Given the description of an element on the screen output the (x, y) to click on. 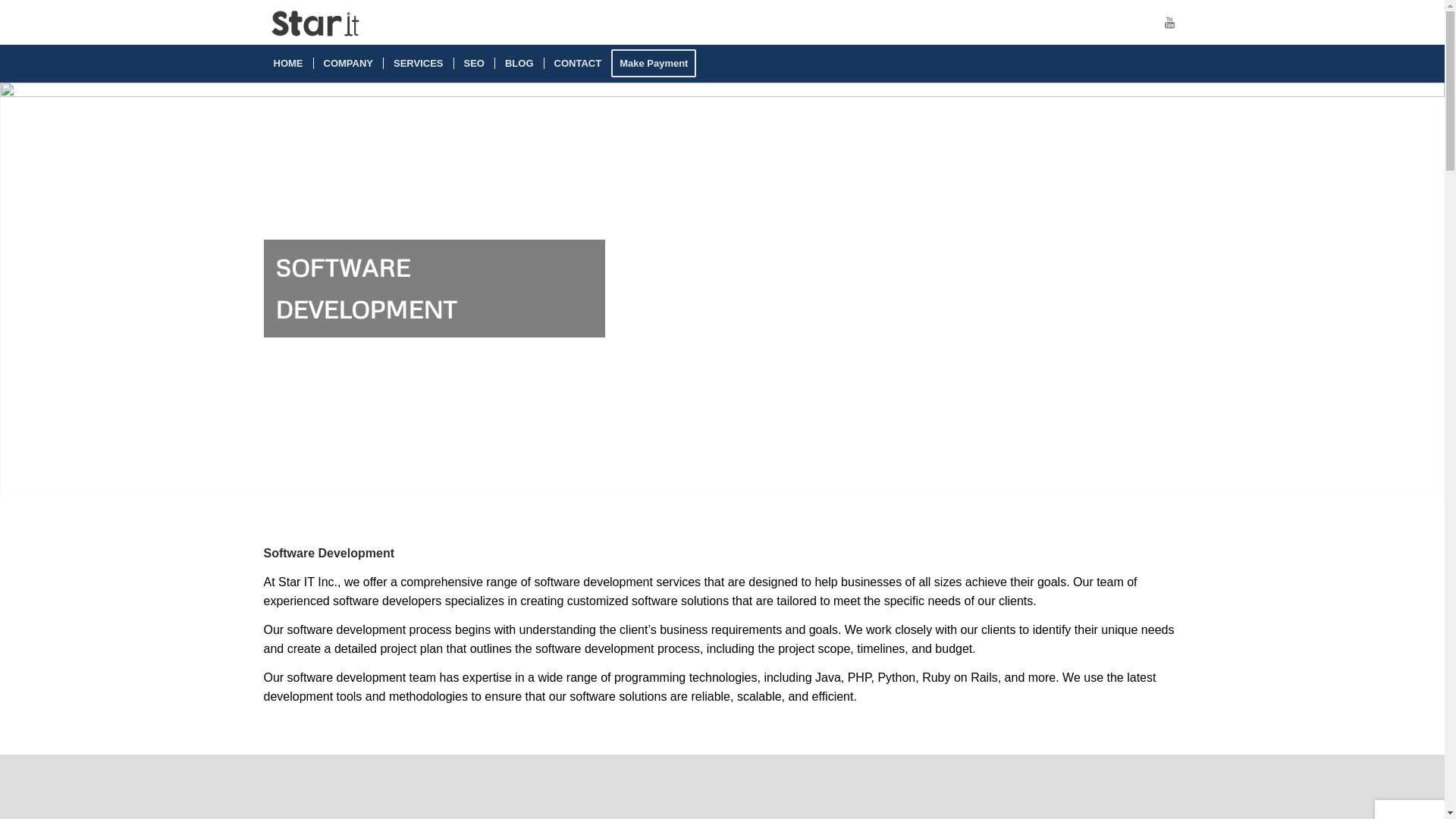
Youtube Element type: hover (1169, 21)
CONTACT Element type: text (577, 63)
Make Payment Element type: text (658, 63)
BLOG Element type: text (518, 63)
SEO Element type: text (473, 63)
COMPANY Element type: text (347, 63)
SERVICES Element type: text (417, 63)
software-development-1 Element type: hover (722, 288)
HOME Element type: text (288, 63)
